Given the description of an element on the screen output the (x, y) to click on. 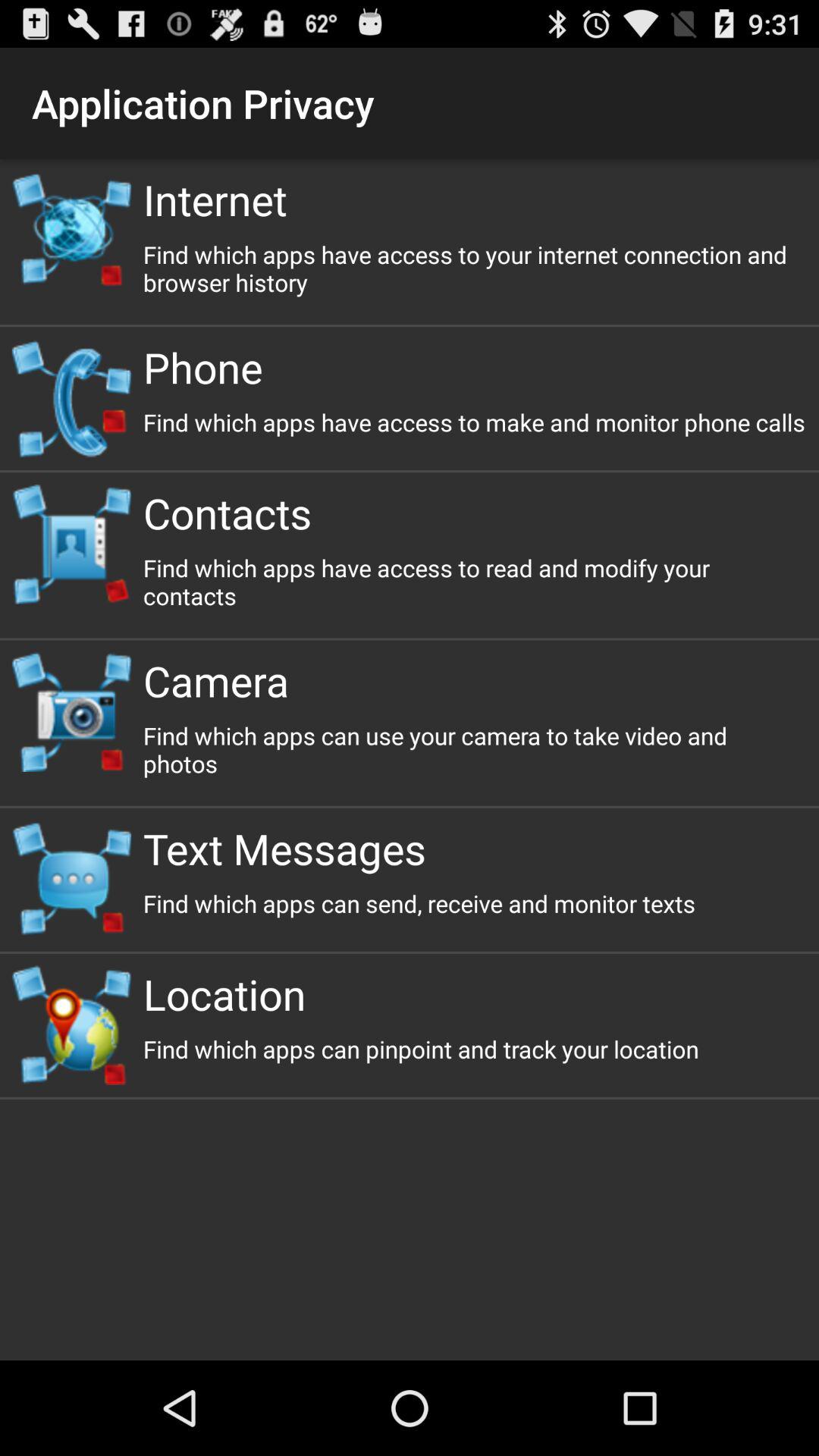
tap the app above find which apps (475, 848)
